Given the description of an element on the screen output the (x, y) to click on. 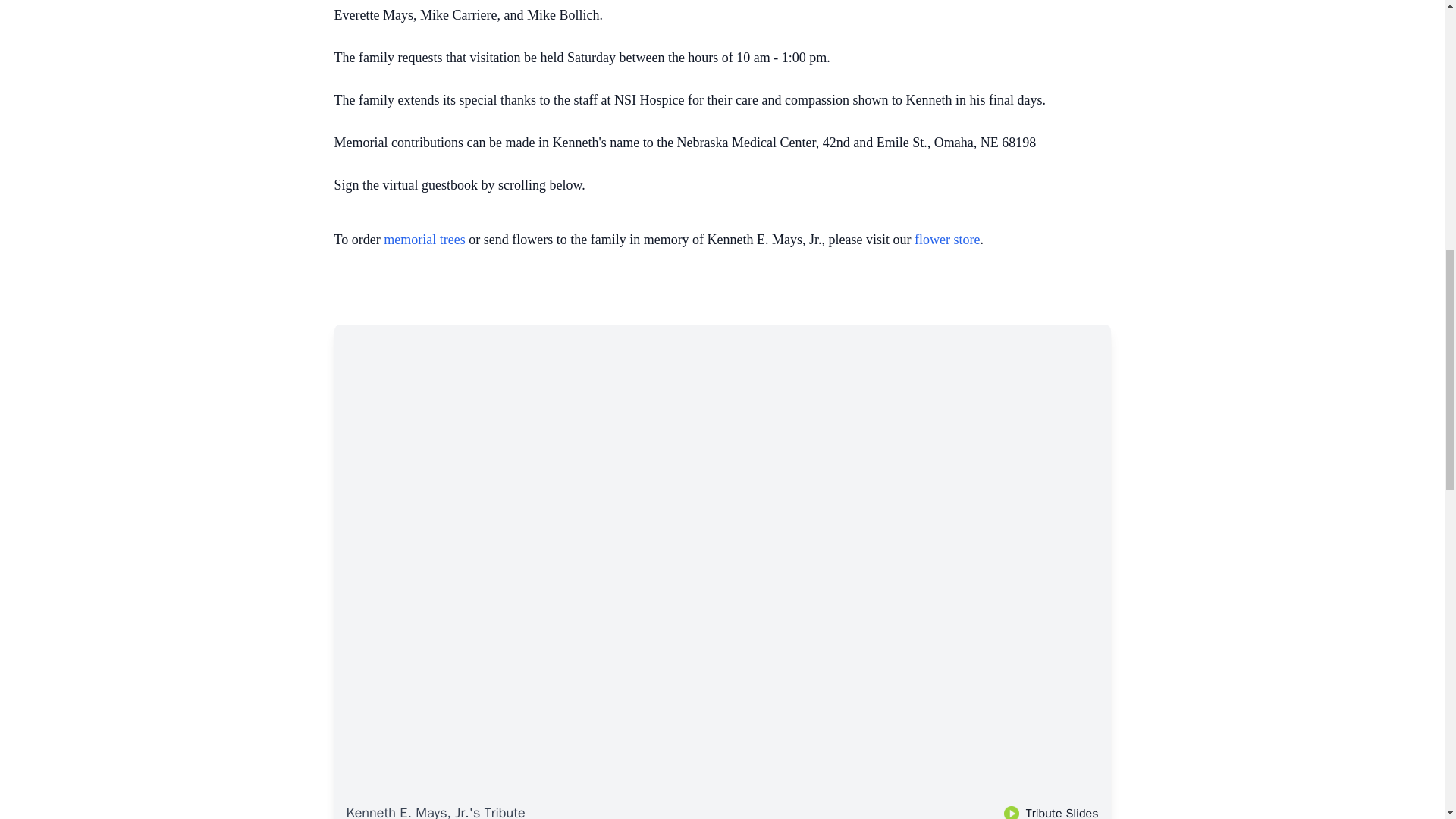
flower store (946, 239)
memorial trees (424, 239)
